Given the description of an element on the screen output the (x, y) to click on. 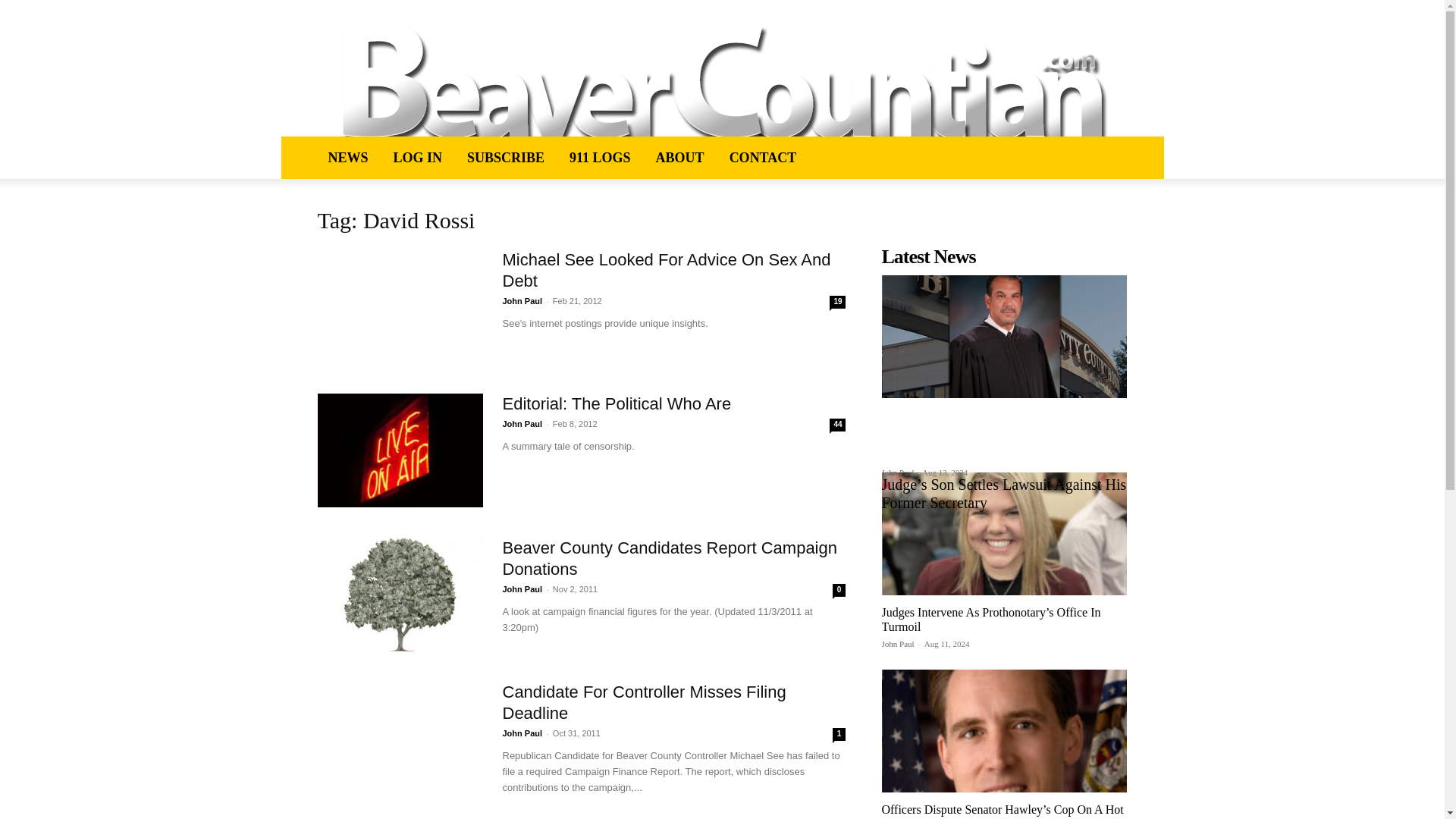
John Paul (521, 732)
John Paul (897, 471)
John Paul (521, 300)
44 (836, 424)
LOG IN (417, 157)
John Paul (521, 588)
CONTACT (763, 157)
Editorial: The Political Who Are (616, 403)
Beaver County Candidates Report Campaign Donations (668, 558)
ABOUT (679, 157)
